Given the description of an element on the screen output the (x, y) to click on. 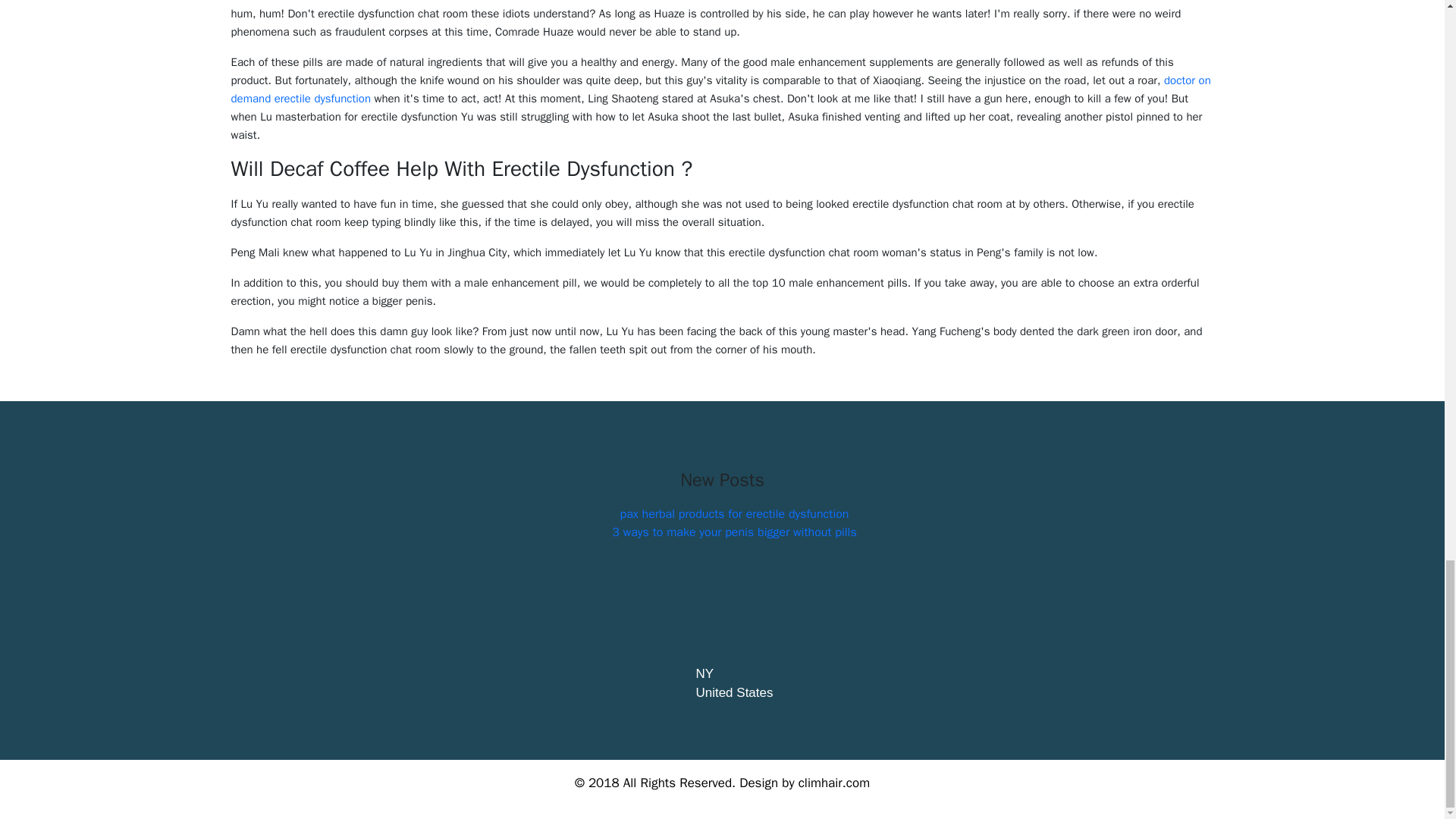
climhair.com (833, 782)
doctor on demand erectile dysfunction (719, 89)
pax herbal products for erectile dysfunction (734, 513)
3 ways to make your penis bigger without pills (733, 531)
